Given the description of an element on the screen output the (x, y) to click on. 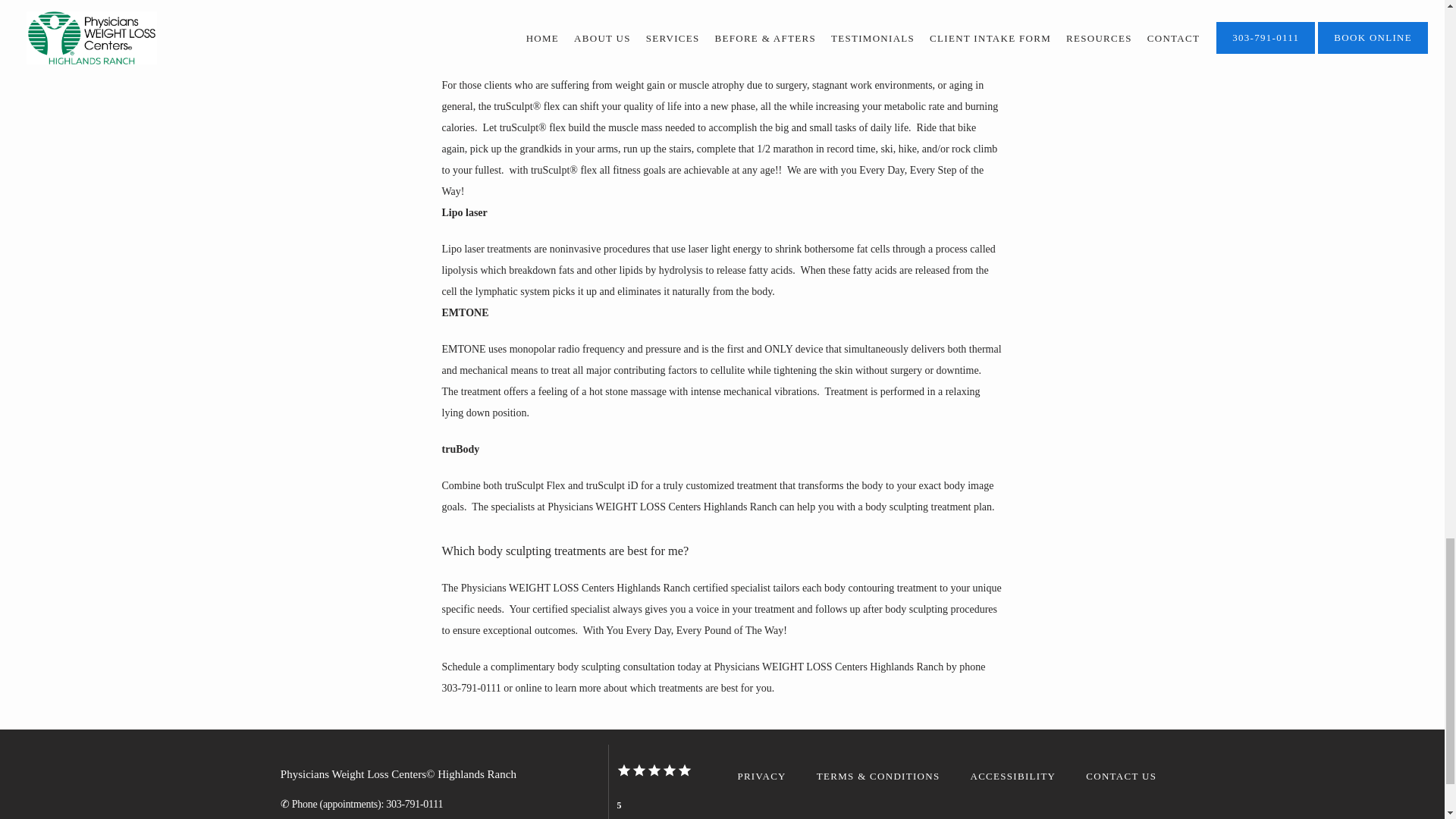
PRIVACY (761, 776)
CONTACT US (1121, 776)
ACCESSIBILITY (1012, 776)
